Given the description of an element on the screen output the (x, y) to click on. 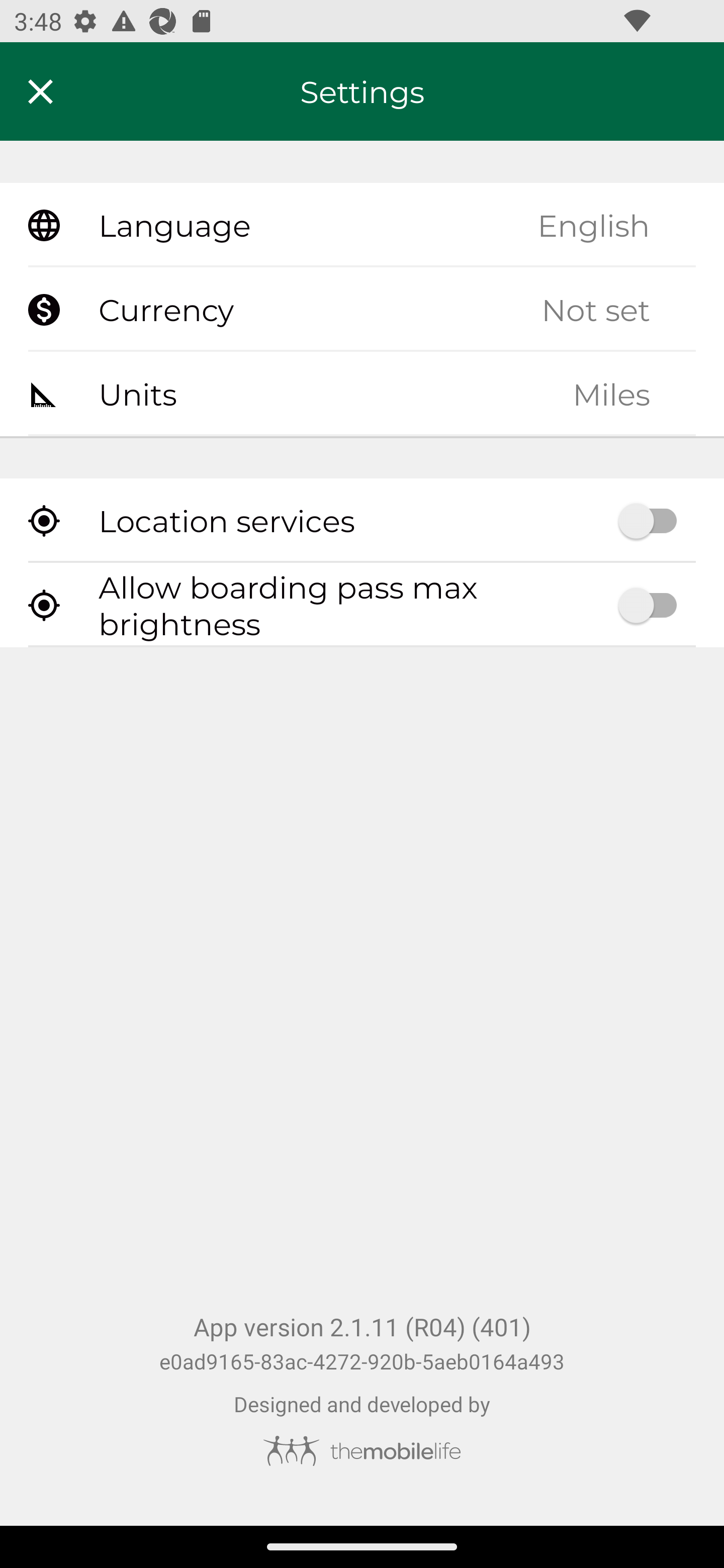
Language English (362, 225)
Currency Not set (362, 309)
Units Miles (362, 393)
Location services (362, 520)
Allow boarding pass max brightness (362, 604)
